Given the description of an element on the screen output the (x, y) to click on. 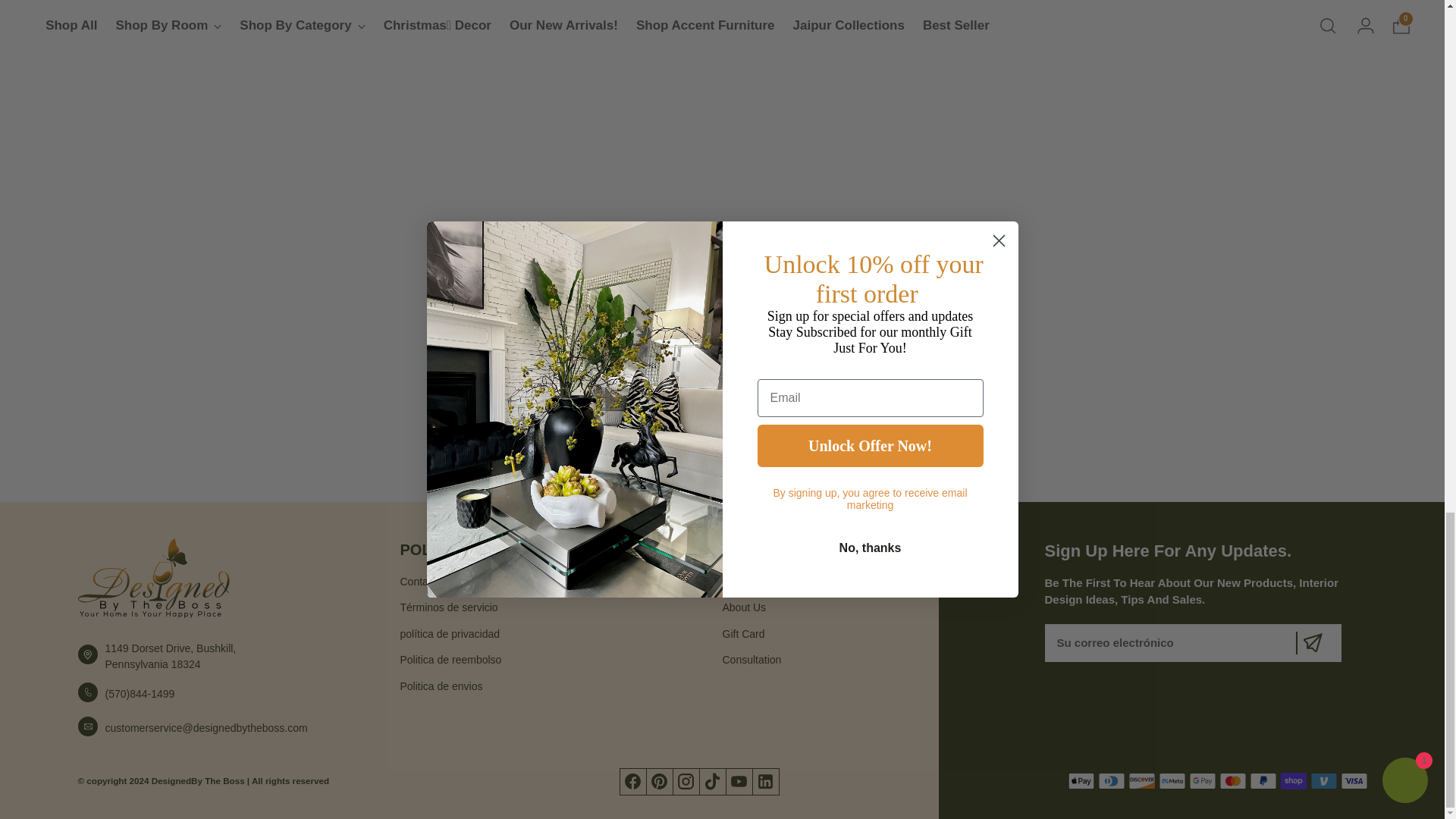
DesignedBy The Boss en Facebook (633, 780)
DesignedBy The Boss en Pinterest (659, 780)
